Given the description of an element on the screen output the (x, y) to click on. 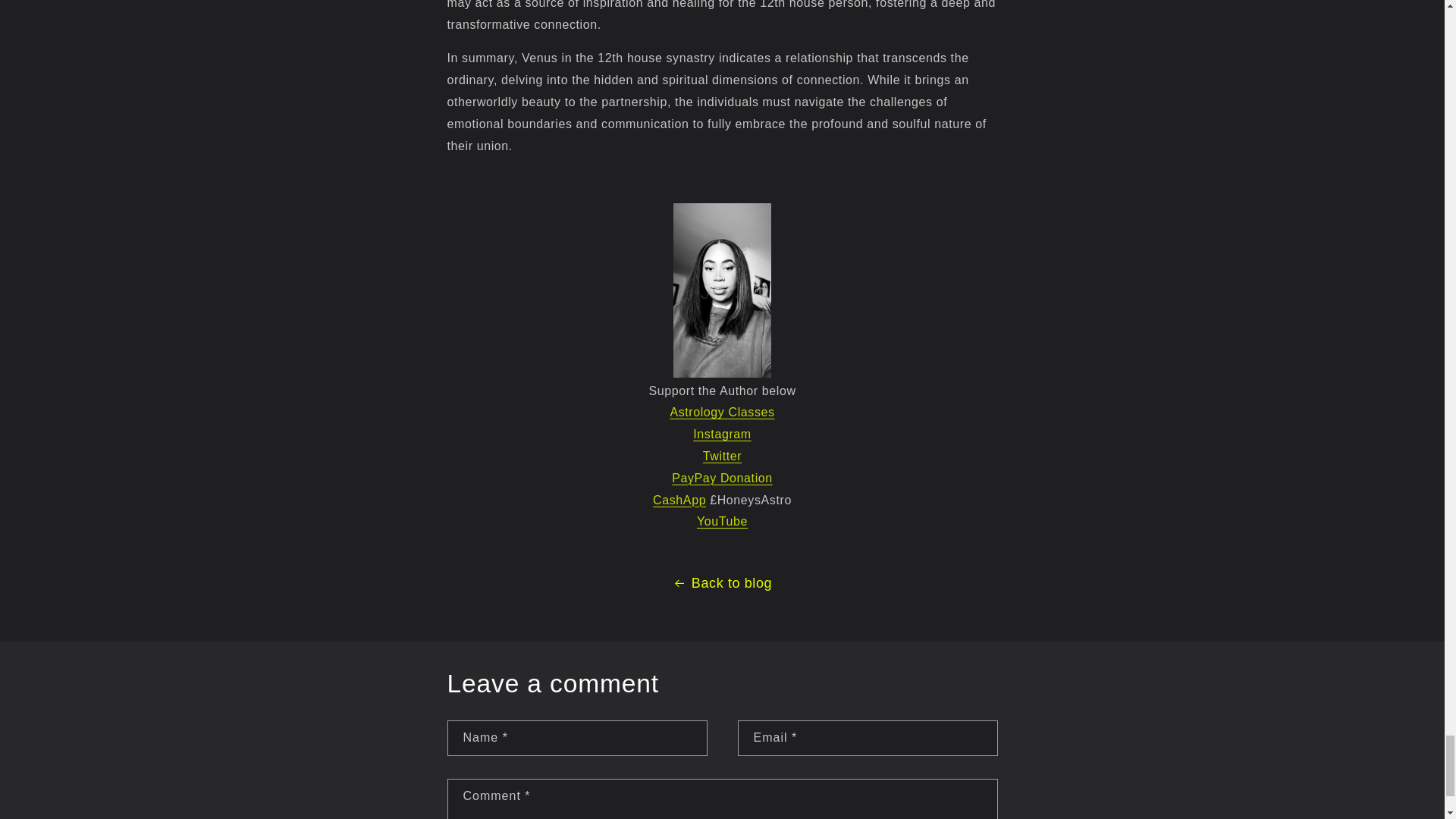
Twitter (722, 455)
CashApp (679, 499)
PayPay Donation (722, 477)
YouTube (722, 521)
Instagram (722, 433)
Astrology Classes (721, 411)
